Given the description of an element on the screen output the (x, y) to click on. 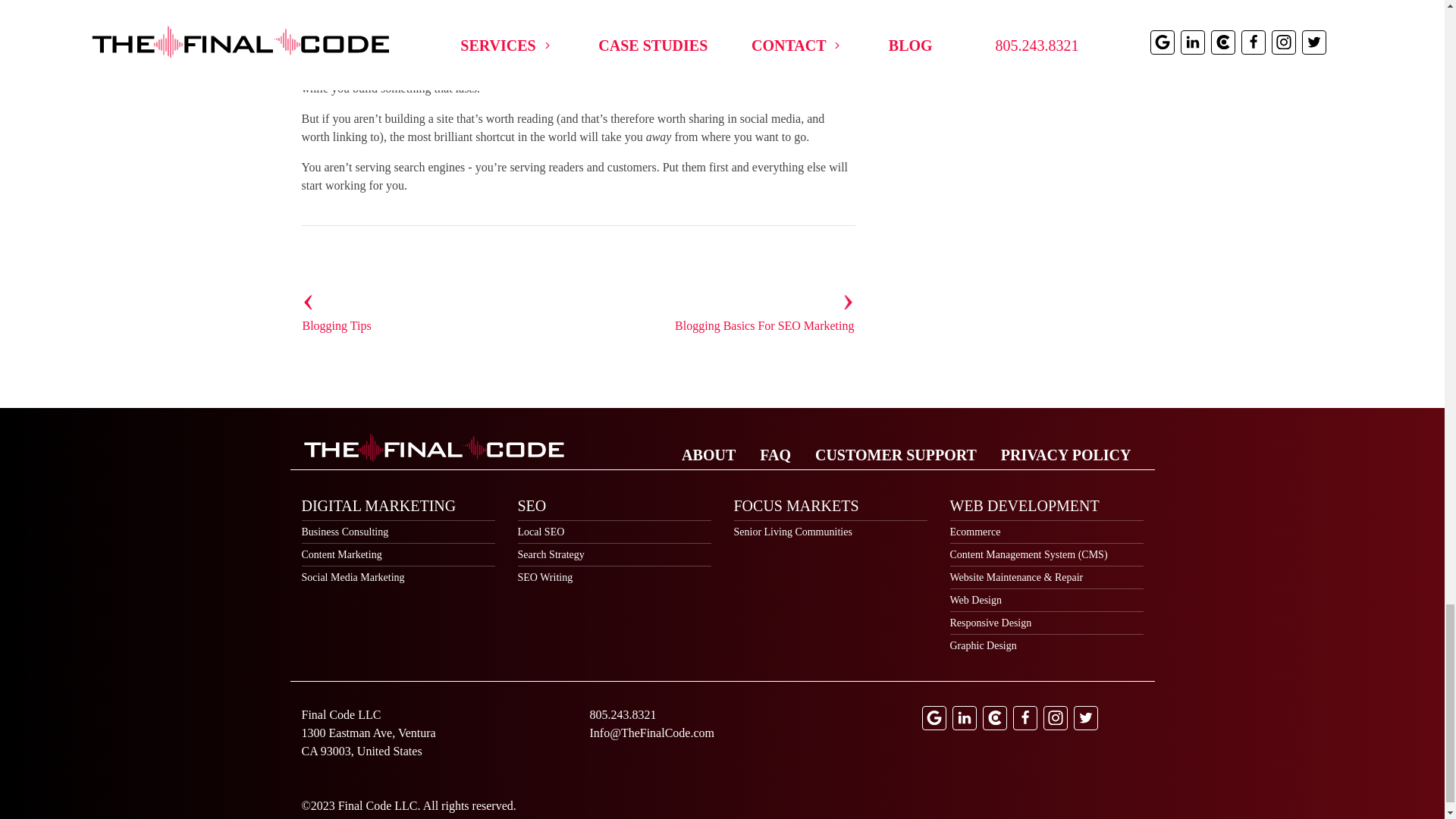
TheFinalCode Facebook (1024, 717)
The Final Code Twitter (1085, 717)
The Final Code Instagram (1055, 717)
TheFinalCode Google (933, 717)
TheFinalCode Clutch (994, 717)
The Final Code LinkedIn (964, 717)
